Given the description of an element on the screen output the (x, y) to click on. 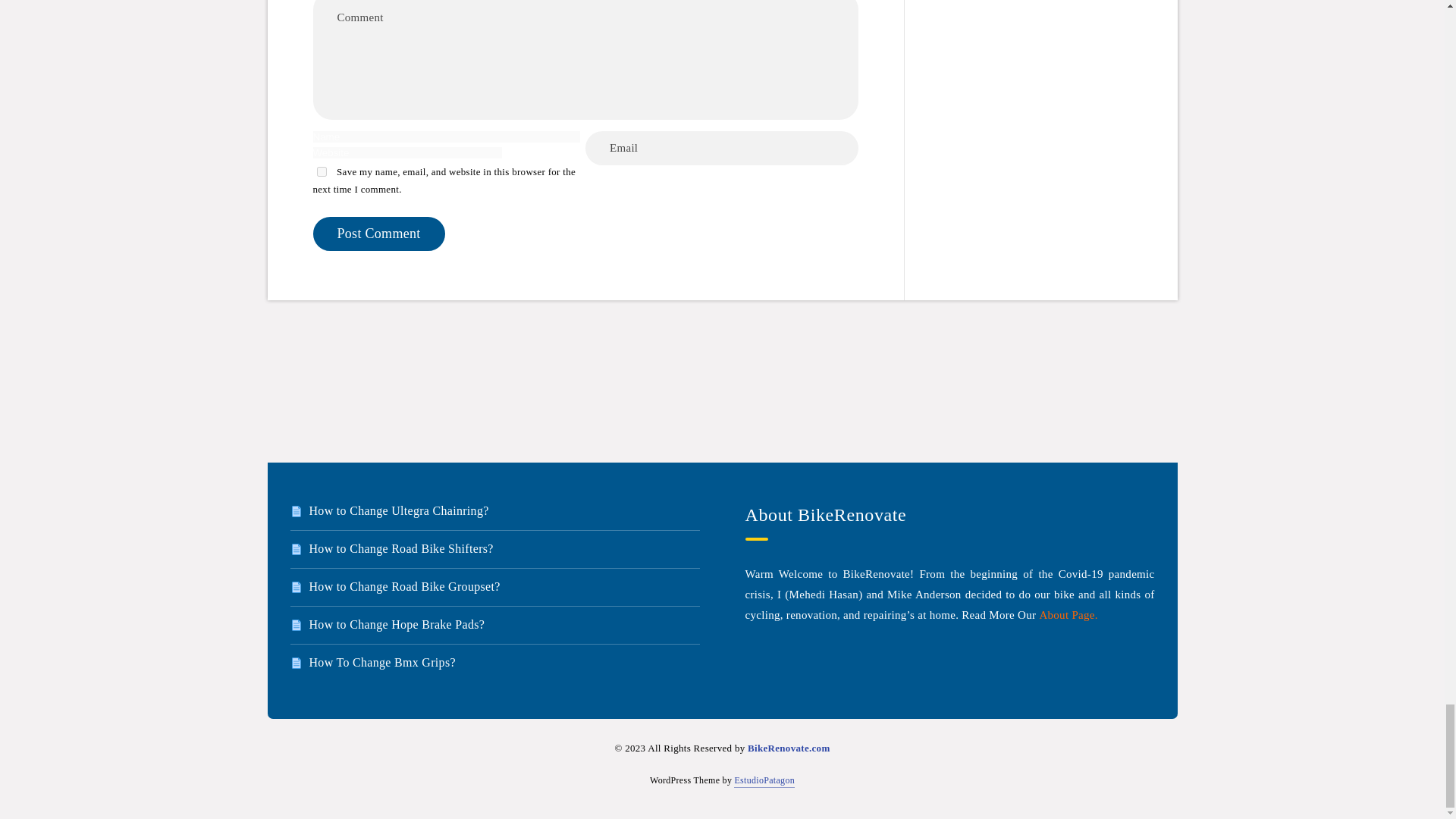
Post Comment (378, 233)
yes (321, 171)
Powered with Reco (763, 780)
Post Comment (378, 233)
